Given the description of an element on the screen output the (x, y) to click on. 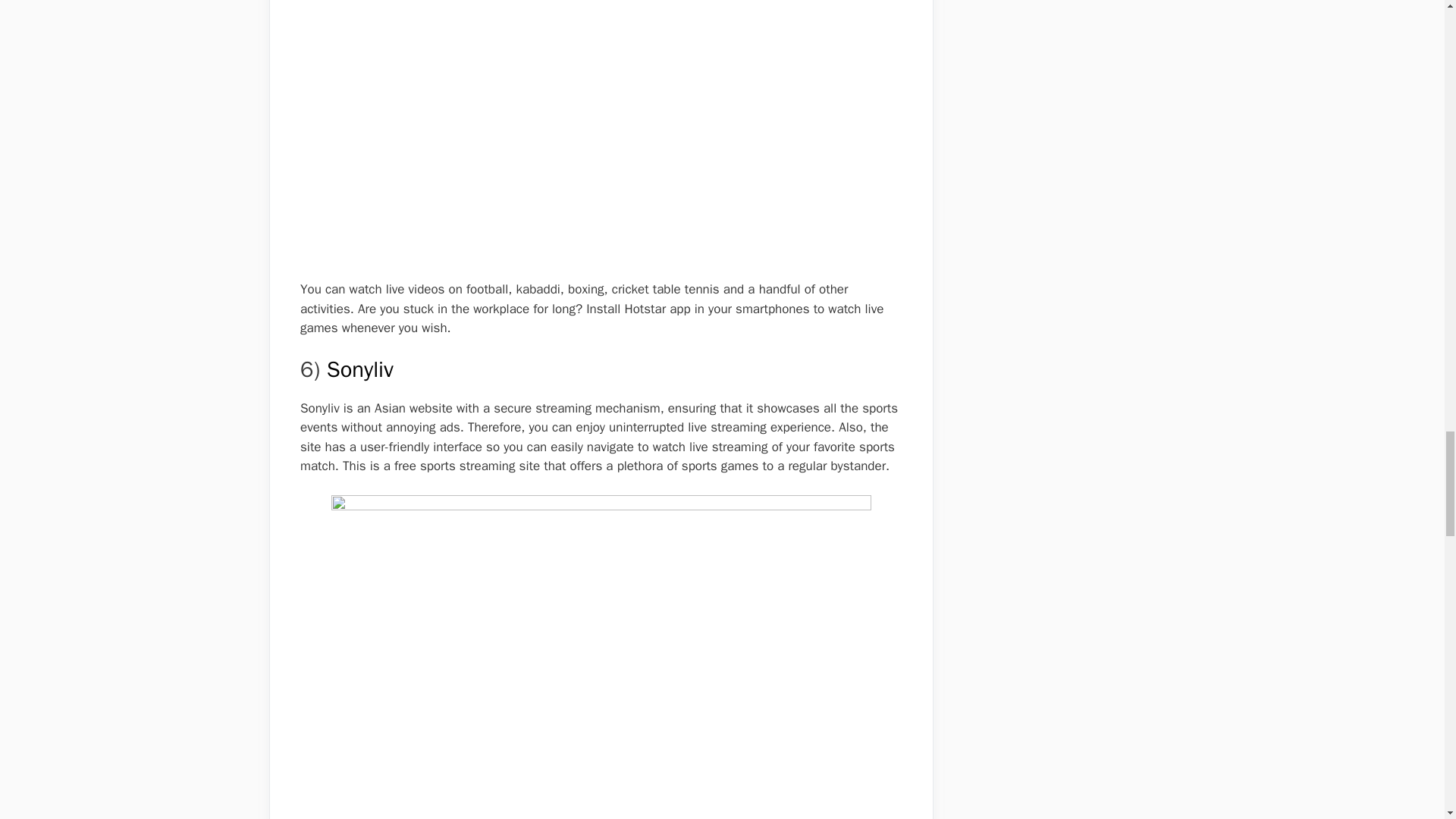
Sonyliv (359, 369)
VIPLeague (376, 817)
